Given the description of an element on the screen output the (x, y) to click on. 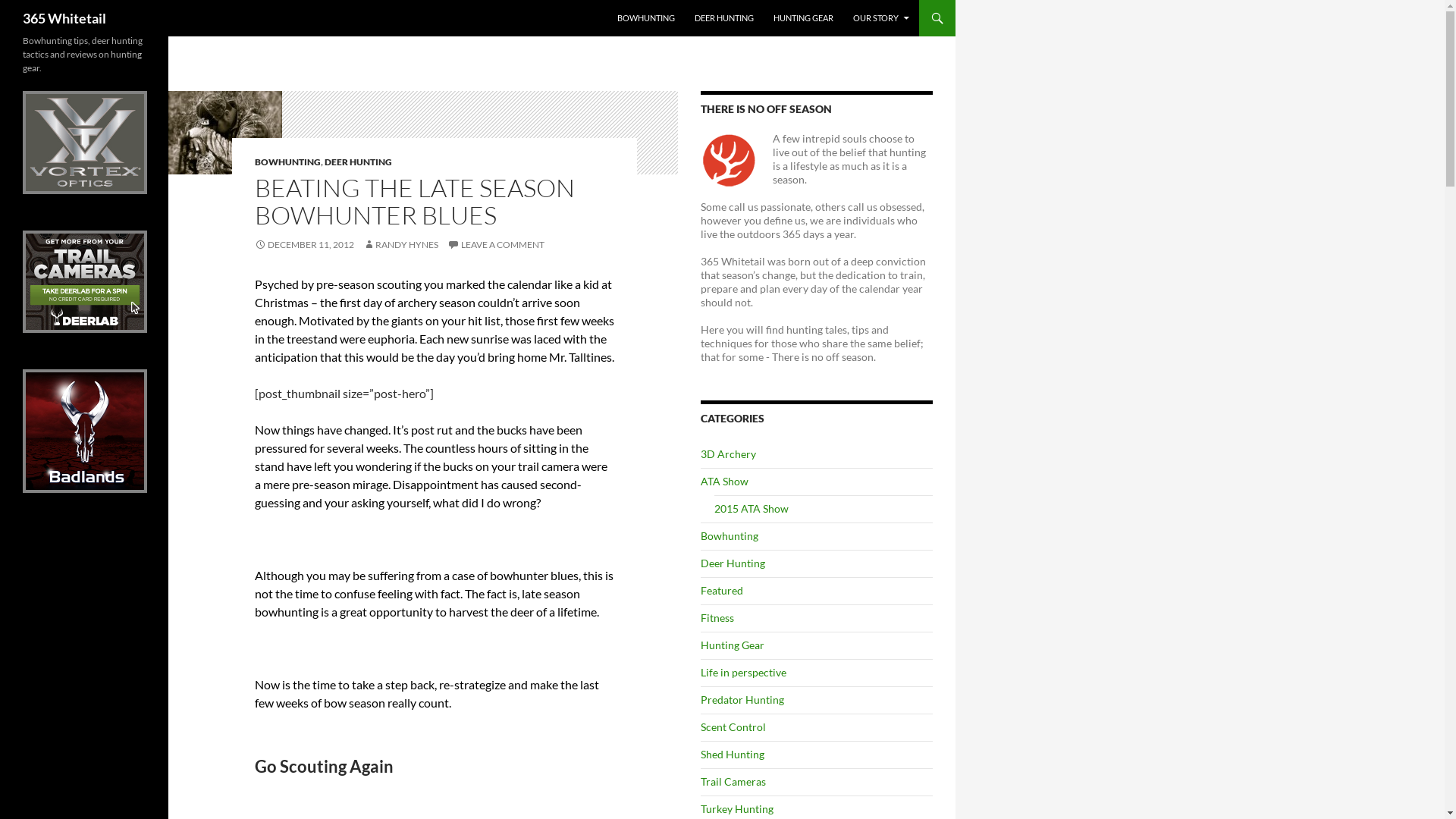
Featured Element type: text (721, 589)
SKIP TO CONTENT Element type: text (652, 6)
BOWHUNTING Element type: text (287, 161)
Turkey Hunting Element type: text (736, 808)
OUR STORY Element type: text (881, 18)
RANDY HYNES Element type: text (400, 244)
ATA Show Element type: text (724, 480)
Hunting Gear Element type: text (732, 644)
Predator Hunting Element type: text (742, 699)
2015 ATA Show Element type: text (751, 508)
DEER HUNTING Element type: text (723, 18)
Bowhunting Element type: text (729, 535)
Fitness Element type: text (717, 617)
Life in perspective Element type: text (743, 671)
365 Whitetail Element type: text (64, 17)
HUNTING GEAR Element type: text (803, 18)
BOWHUNTING Element type: text (646, 18)
Scent Control Element type: text (732, 726)
Search Element type: text (20, 9)
DEER HUNTING Element type: text (358, 161)
Shed Hunting Element type: text (732, 753)
LEAVE A COMMENT Element type: text (495, 244)
Trail Cameras Element type: text (732, 781)
Deer Hunting Element type: text (732, 562)
DECEMBER 11, 2012 Element type: text (304, 244)
3D Archery Element type: text (728, 453)
